Given the description of an element on the screen output the (x, y) to click on. 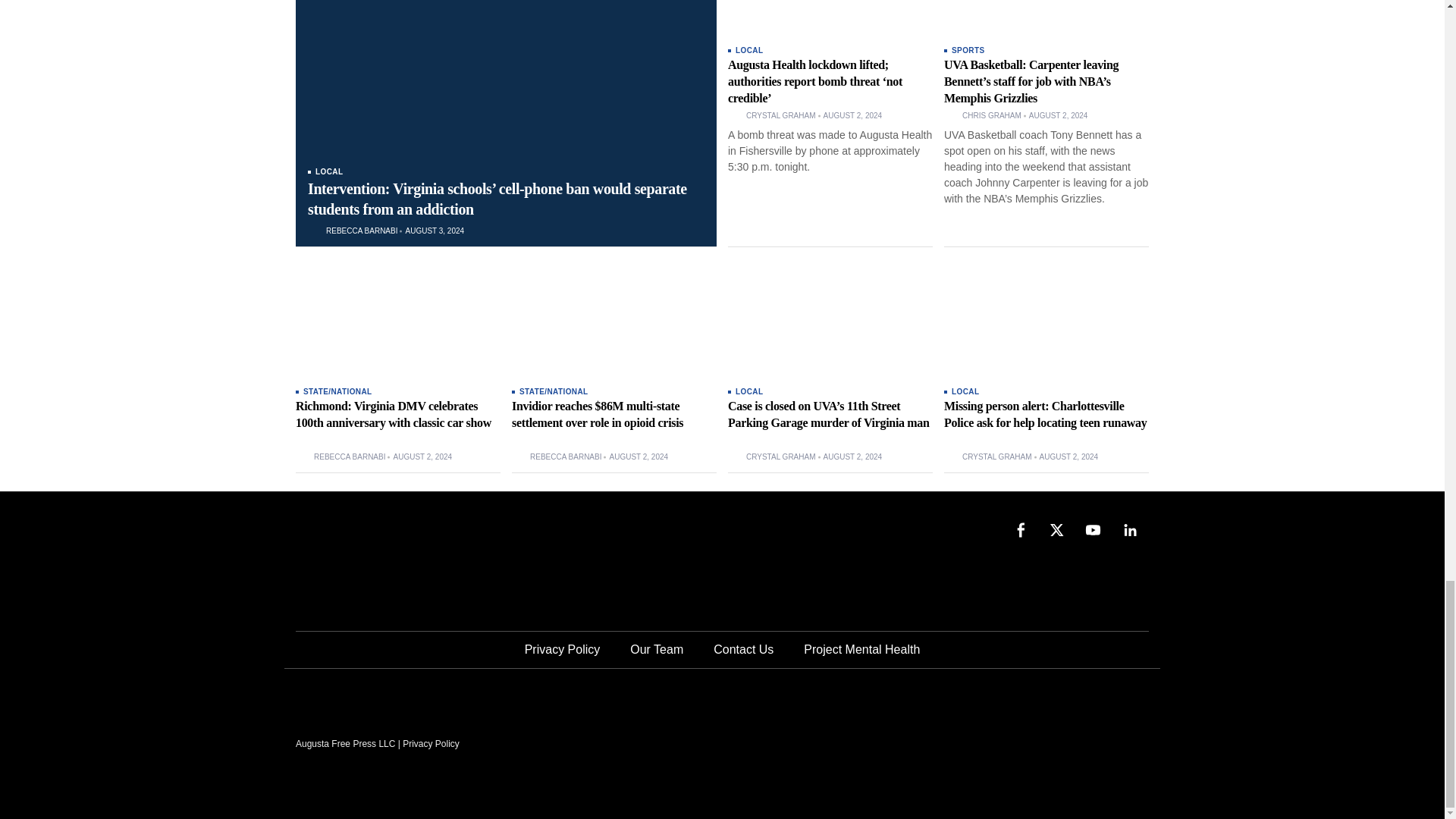
DMCA.com Protection Status (1034, 743)
